Given the description of an element on the screen output the (x, y) to click on. 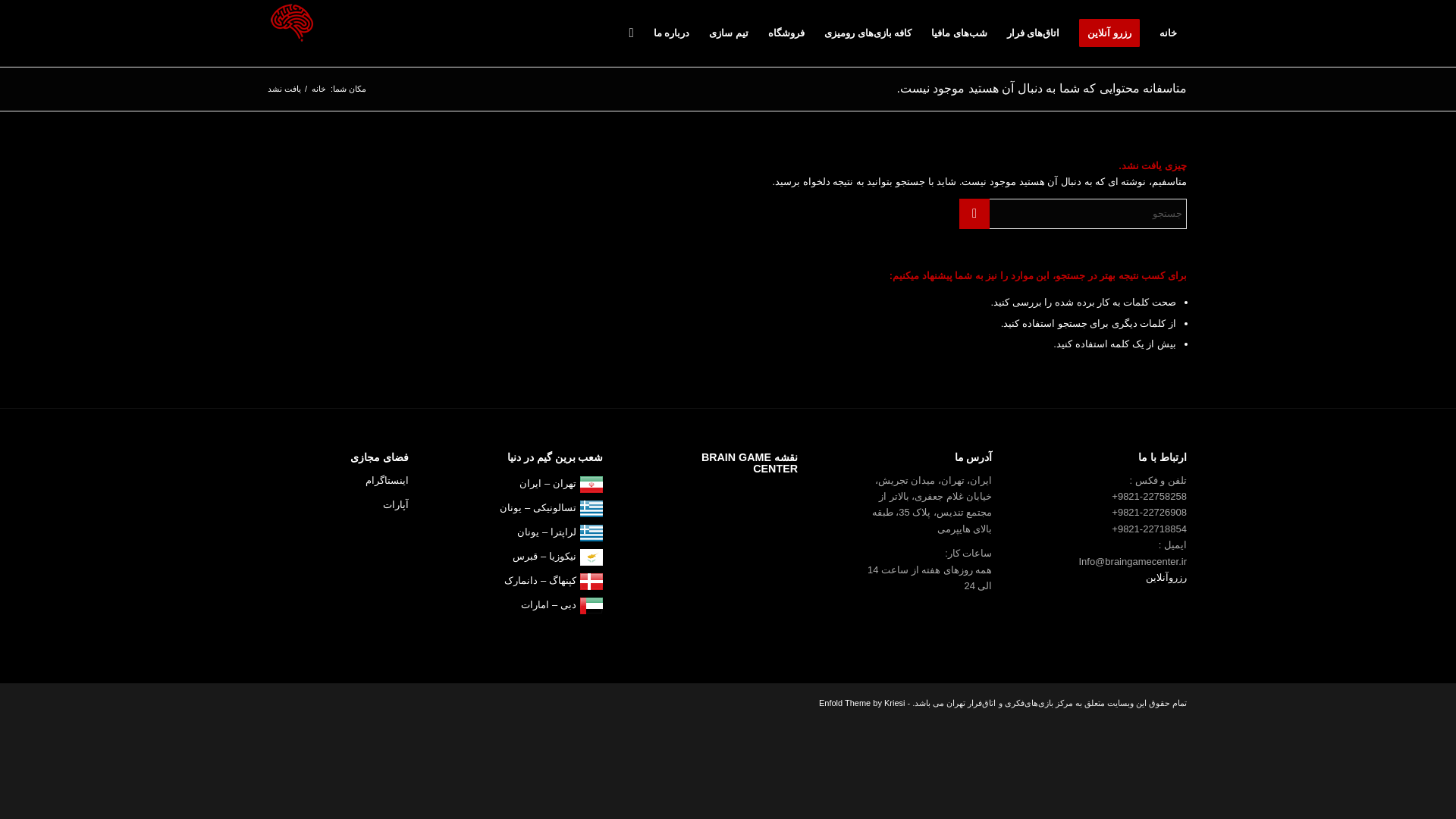
Enfold Theme by Kriesi (861, 702)
Click to start search (974, 214)
Braingame-Favicon (291, 22)
